Given the description of an element on the screen output the (x, y) to click on. 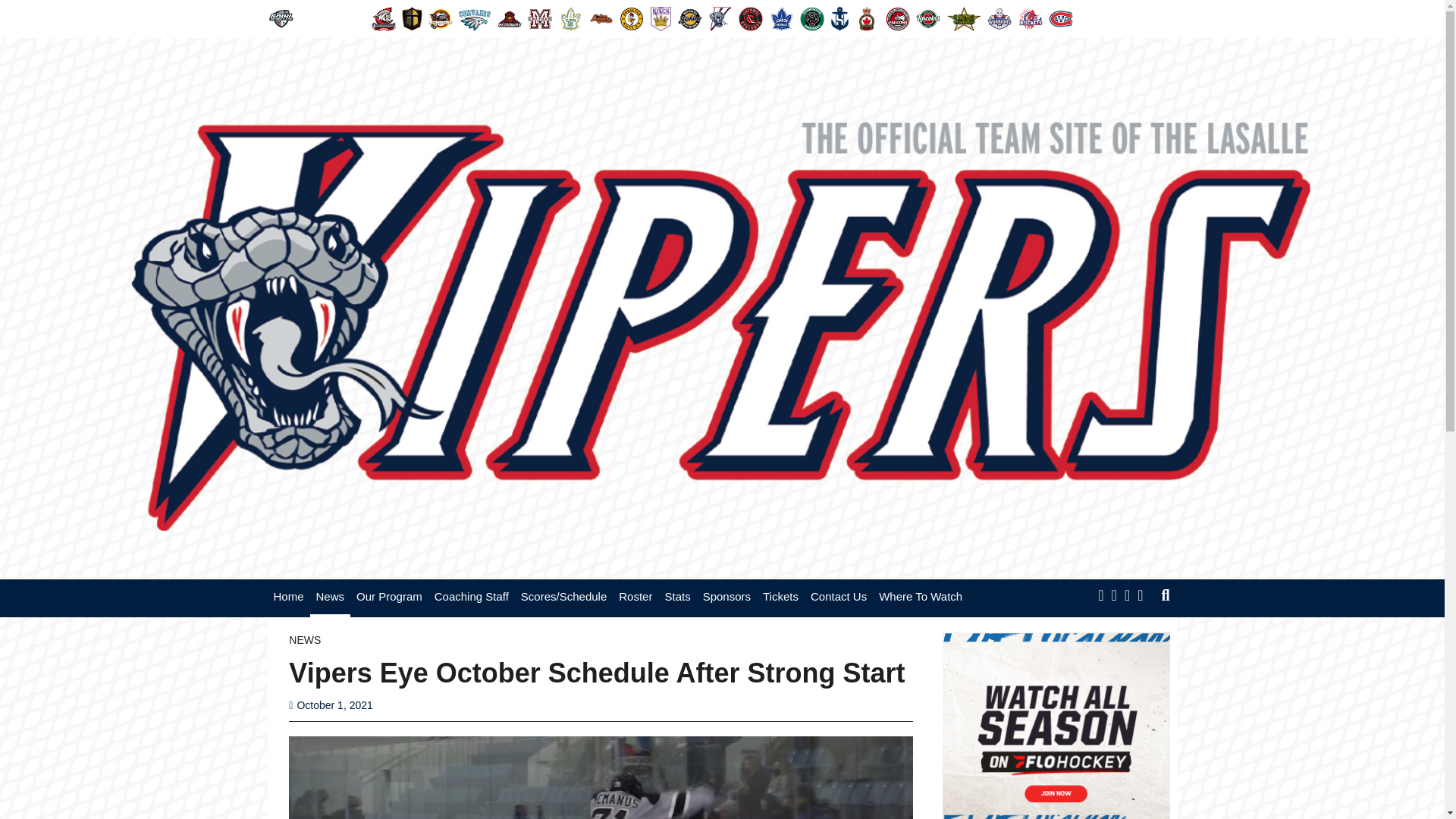
Caledon Bombers (440, 18)
Greater Ontario Junior Hockey League (280, 18)
Cambridge Redhawks (509, 18)
Hamilton Kilty B's (631, 18)
Caledonia Pro Fit Corvairs (474, 18)
Elmira Sugar Kings (569, 18)
Ayr Centennials (383, 18)
Fort Erie Meteors (601, 18)
Chatham Maroons (539, 18)
Komoka Kings (660, 18)
Brantford Titans (411, 18)
